Given the description of an element on the screen output the (x, y) to click on. 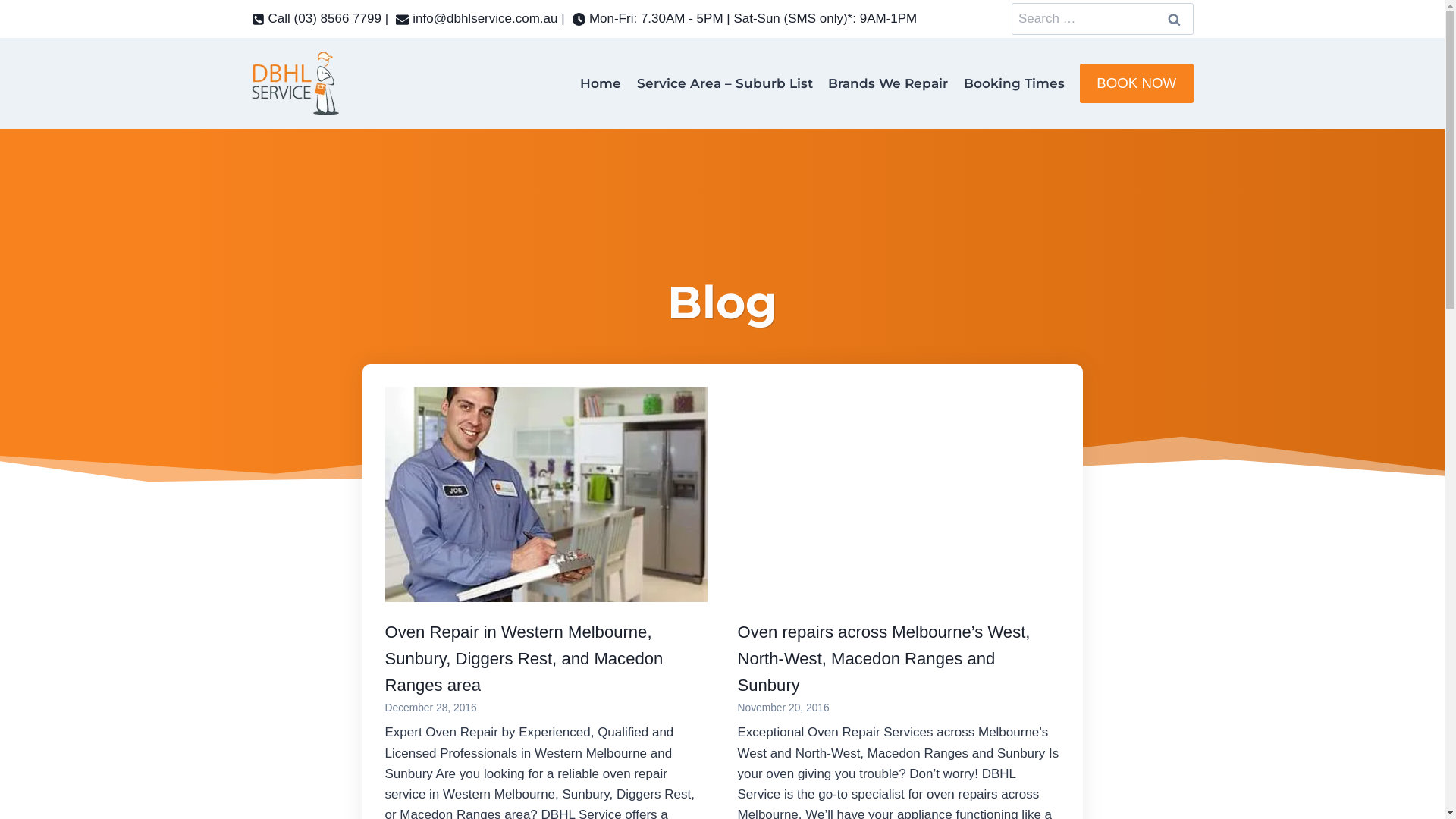
Search Element type: text (1174, 19)
Brands We Repair Element type: text (887, 82)
Booking Times Element type: text (1013, 82)
Home Element type: text (600, 82)
Call (03) 8566 7799 | Element type: text (320, 18)
info@dbhlservice.com.au | Element type: text (479, 18)
BOOK NOW Element type: text (1136, 83)
